Given the description of an element on the screen output the (x, y) to click on. 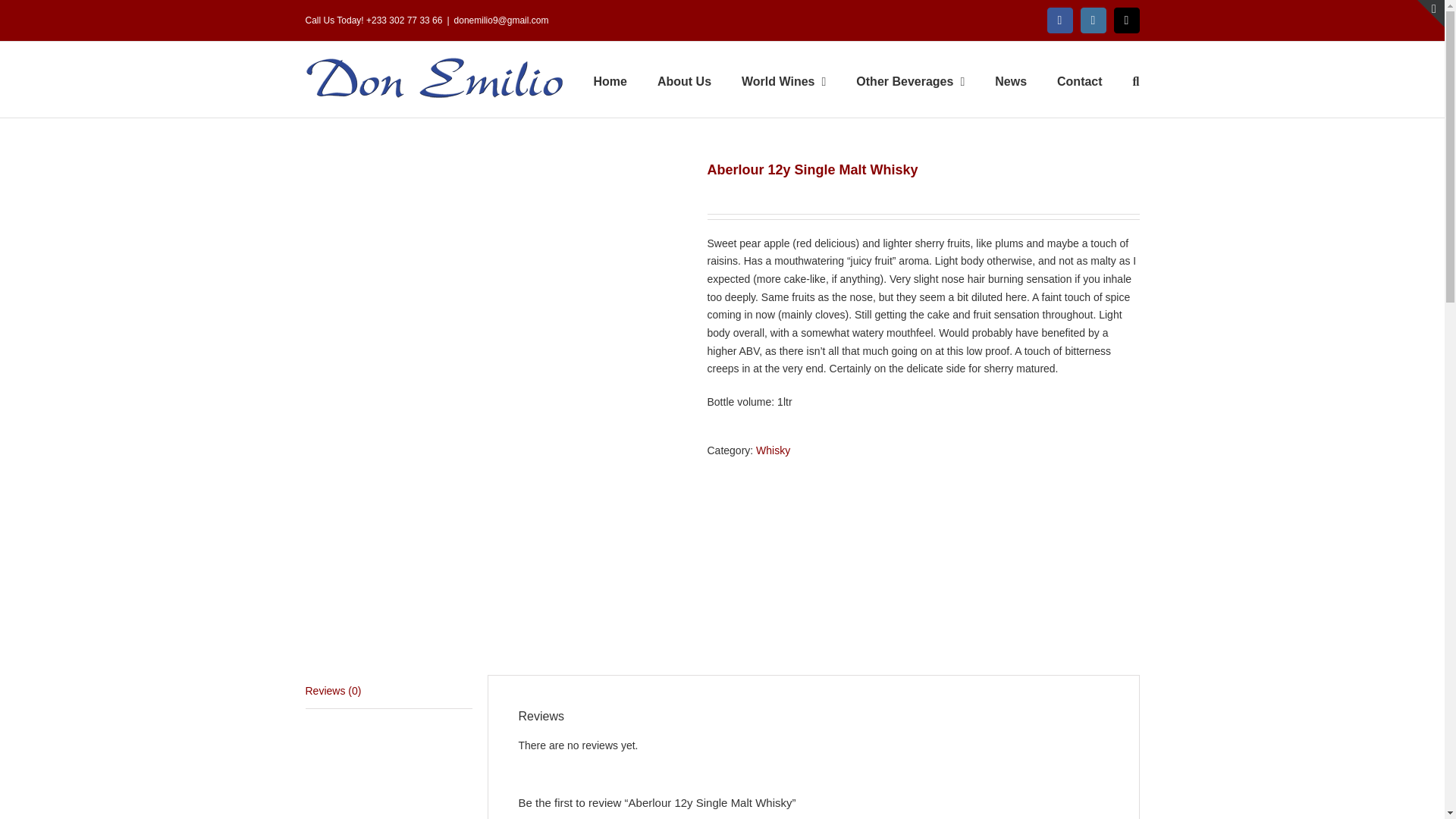
Facebook (1059, 20)
Email (1126, 20)
Facebook (1059, 20)
Instagram (1093, 20)
World Wines (783, 79)
Instagram (1093, 20)
Email (1126, 20)
